Given the description of an element on the screen output the (x, y) to click on. 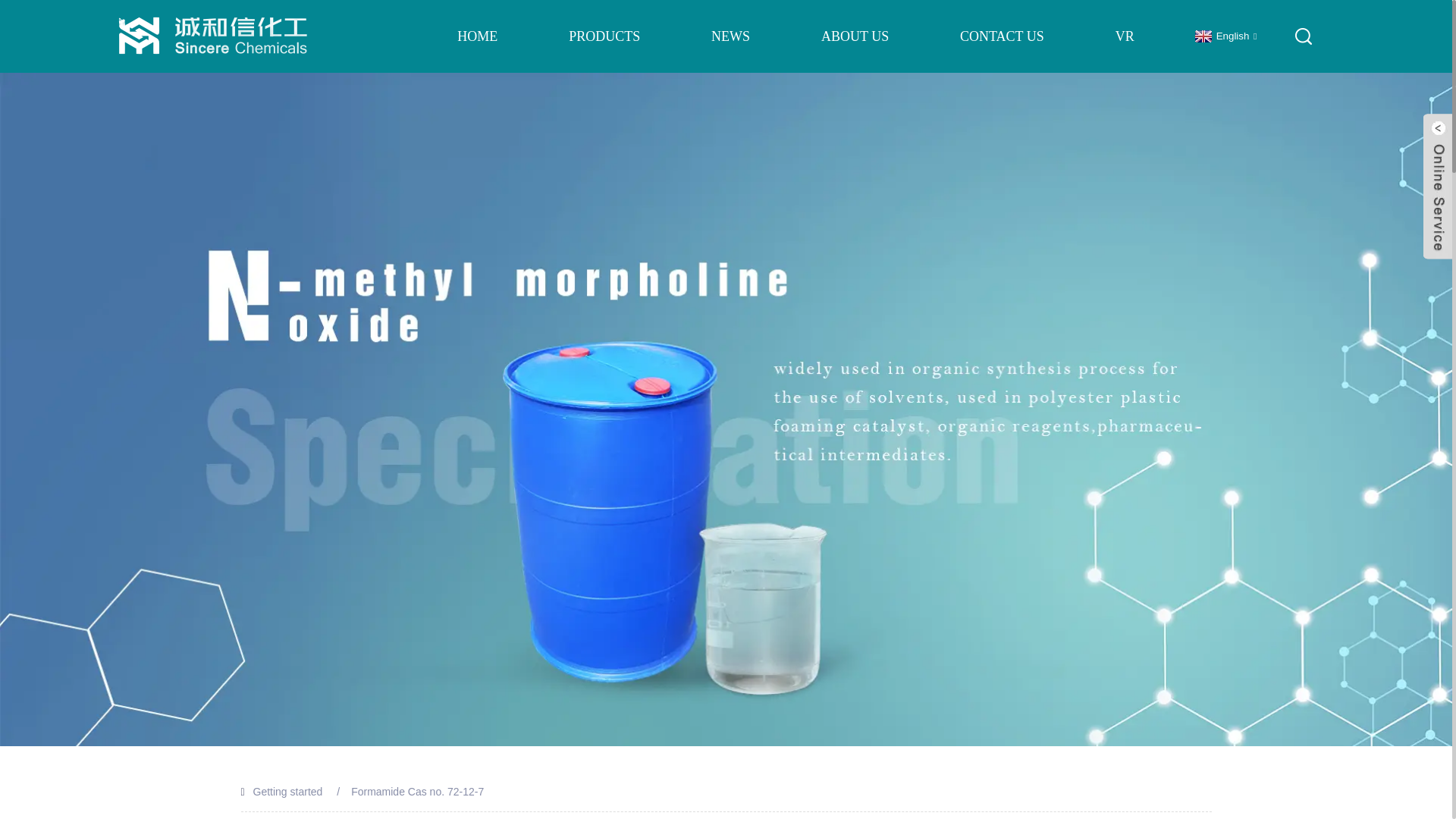
ABOUT US (854, 36)
Getting started (288, 791)
English (1224, 35)
HOME (477, 36)
PRODUCTS (604, 36)
NEWS (730, 36)
CONTACT US (1001, 36)
Formamide Cas no. 72-12-7 (416, 791)
